Given the description of an element on the screen output the (x, y) to click on. 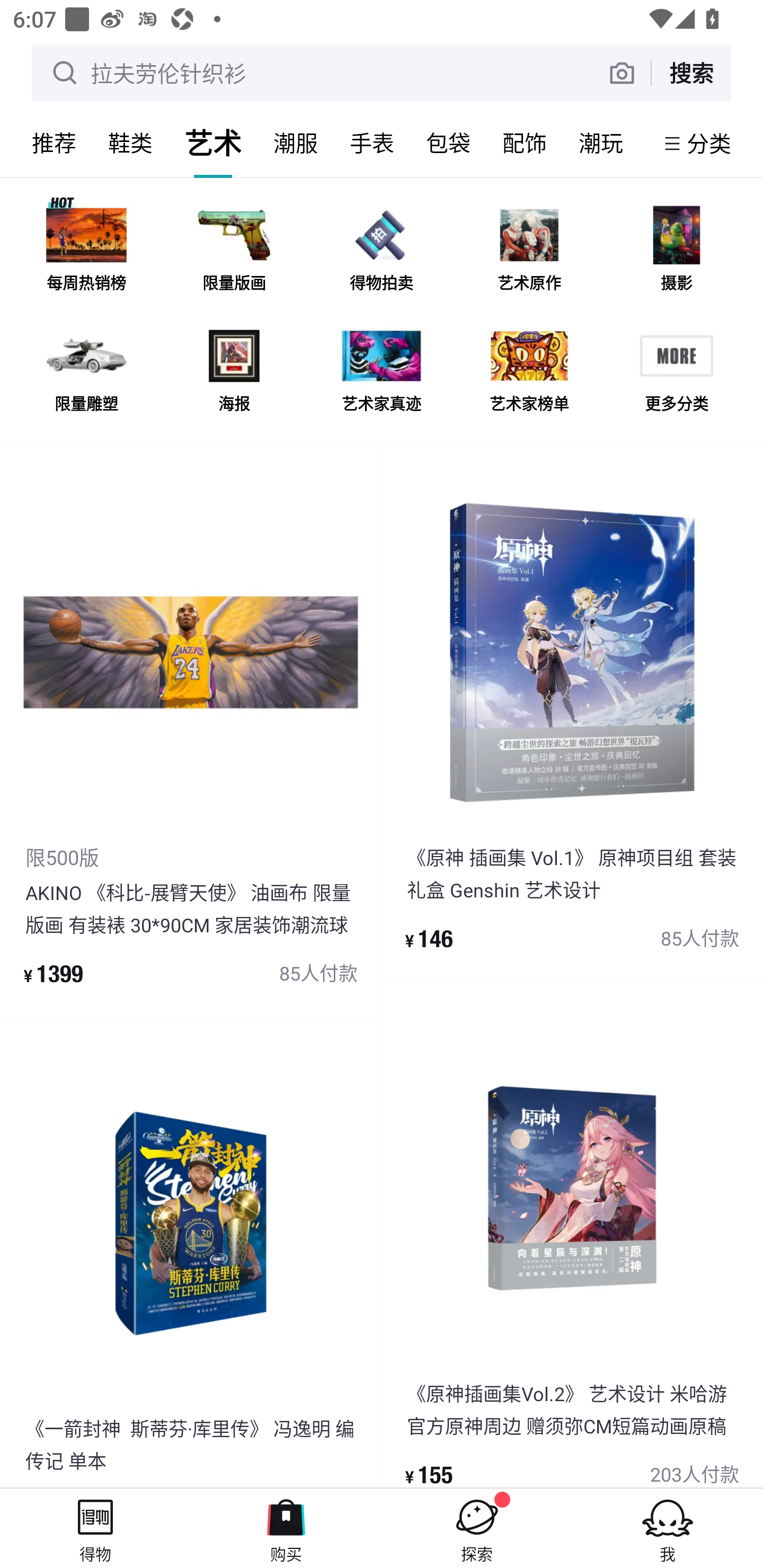
拉夫劳伦针织衫 搜索 (381, 72)
搜索 (690, 72)
推荐 (54, 143)
鞋类 (130, 143)
艺术 (212, 143)
潮服 (295, 143)
手表 (372, 143)
包袋 (448, 143)
配饰 (524, 143)
潮玩 (601, 143)
分类 (708, 143)
每周热销榜 (86, 251)
限量版画 (233, 251)
得物拍卖 (381, 251)
艺术原作 (528, 251)
摄影 (676, 251)
限量雕塑 (86, 372)
海报 (233, 372)
艺术家真迹 (381, 372)
艺术家榜单 (528, 372)
更多分类 (676, 372)
《一箭封神  斯蒂芬·库里传》 冯逸明 编 
传记 单本 (190, 1252)
得物 (95, 1528)
购买 (285, 1528)
探索 (476, 1528)
我 (667, 1528)
